Given the description of an element on the screen output the (x, y) to click on. 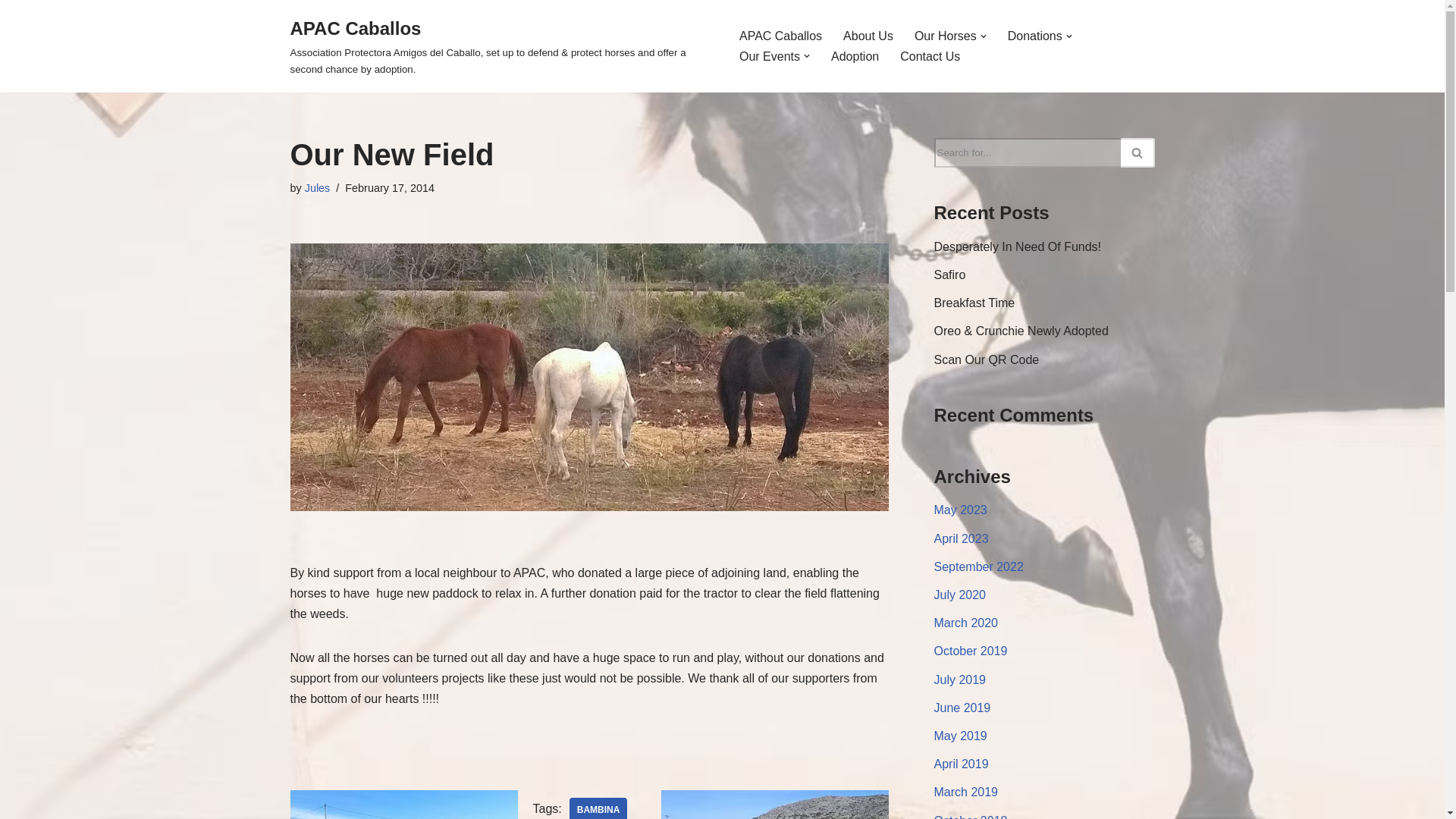
APAC Caballos (780, 35)
About Us (868, 35)
Posts by Jules (317, 187)
Our Events (769, 55)
Our Horses (945, 35)
Skip to content (11, 31)
APAC Caballos (501, 45)
Bambina (598, 808)
Donations (1034, 35)
